Given the description of an element on the screen output the (x, y) to click on. 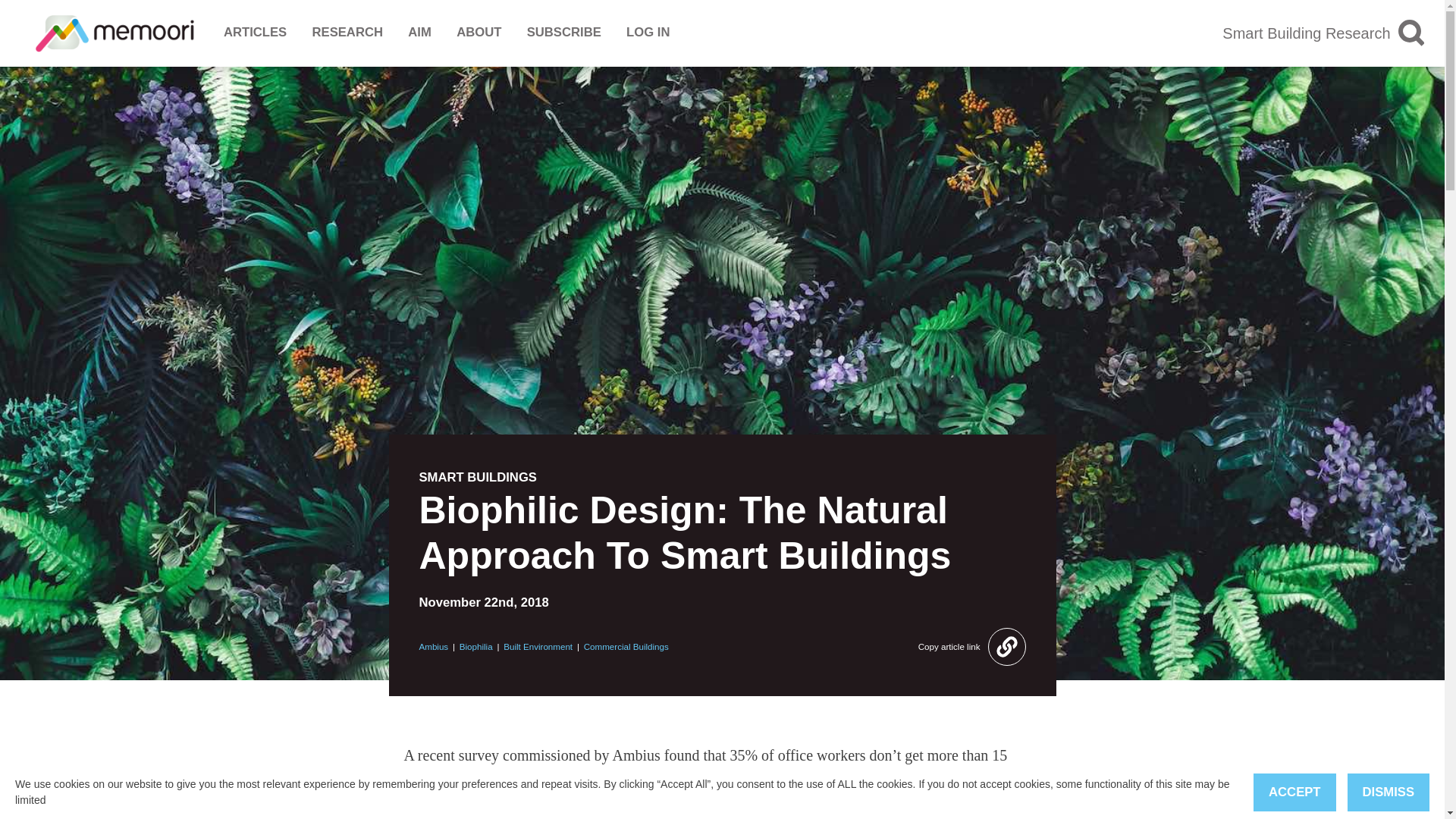
ACCEPT (1294, 792)
Built Environment (537, 645)
ABOUT (478, 32)
RESEARCH (347, 32)
Ambius (433, 645)
Biophilia (476, 645)
DISMISS (1388, 792)
Copy article link (972, 646)
ARTICLES (255, 32)
SUBSCRIBE (564, 32)
Commercial Buildings (625, 645)
LOG IN (647, 32)
AIM (418, 32)
